Given the description of an element on the screen output the (x, y) to click on. 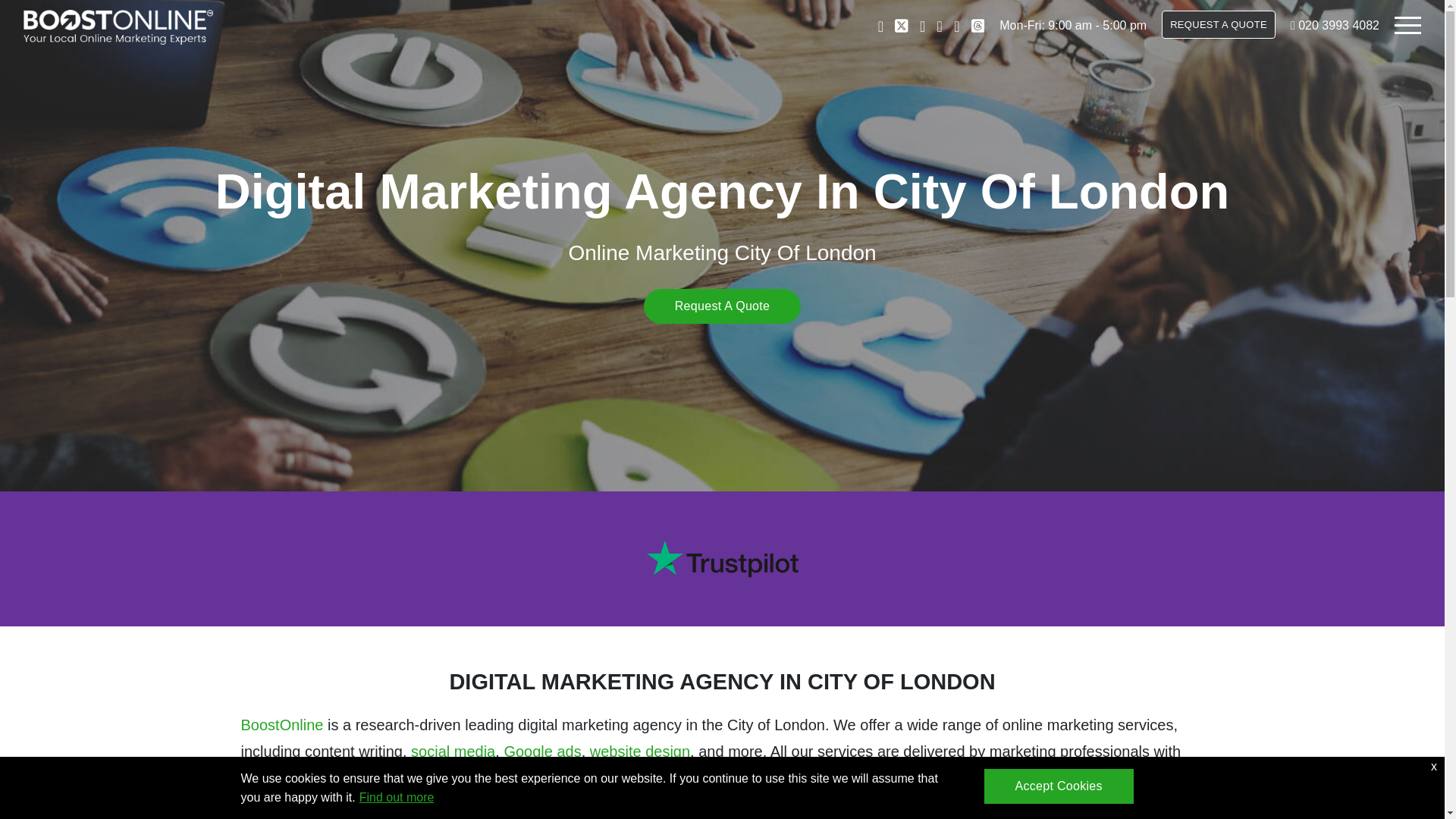
020 3993 4082 (1338, 24)
website design (639, 751)
REQUEST A QUOTE (1218, 24)
social media (452, 751)
BoostOnline (282, 724)
Request A Quote (721, 306)
Google ads (541, 751)
